Given the description of an element on the screen output the (x, y) to click on. 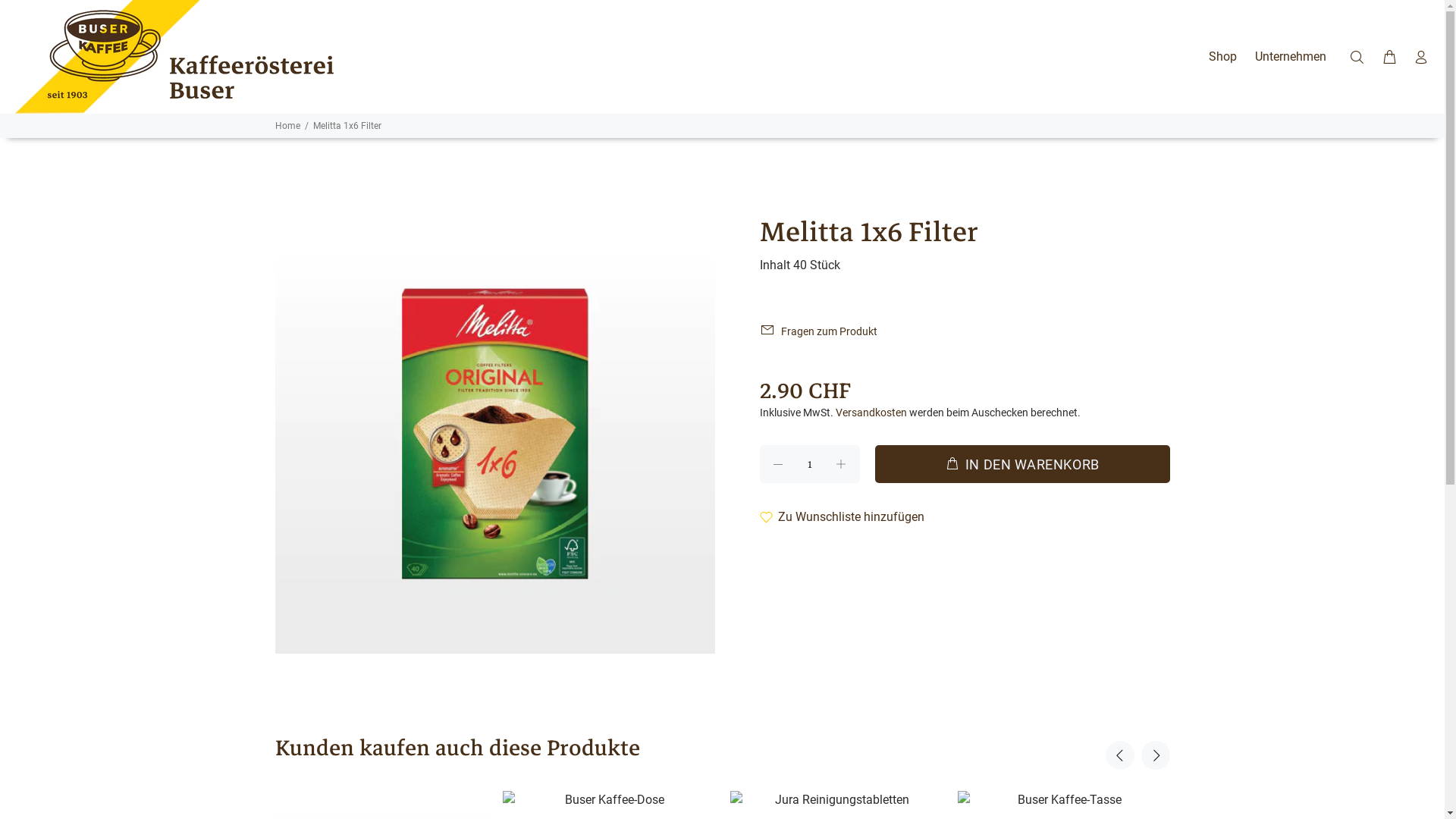
Versandkosten Element type: text (870, 412)
Unternehmen Element type: text (1285, 56)
Home Element type: text (286, 125)
Previous Element type: text (1119, 754)
IN DEN WARENKORB Element type: text (1022, 464)
Shop Element type: text (1222, 56)
Fragen zum Produkt Element type: text (822, 331)
Next Element type: text (1154, 754)
